Given the description of an element on the screen output the (x, y) to click on. 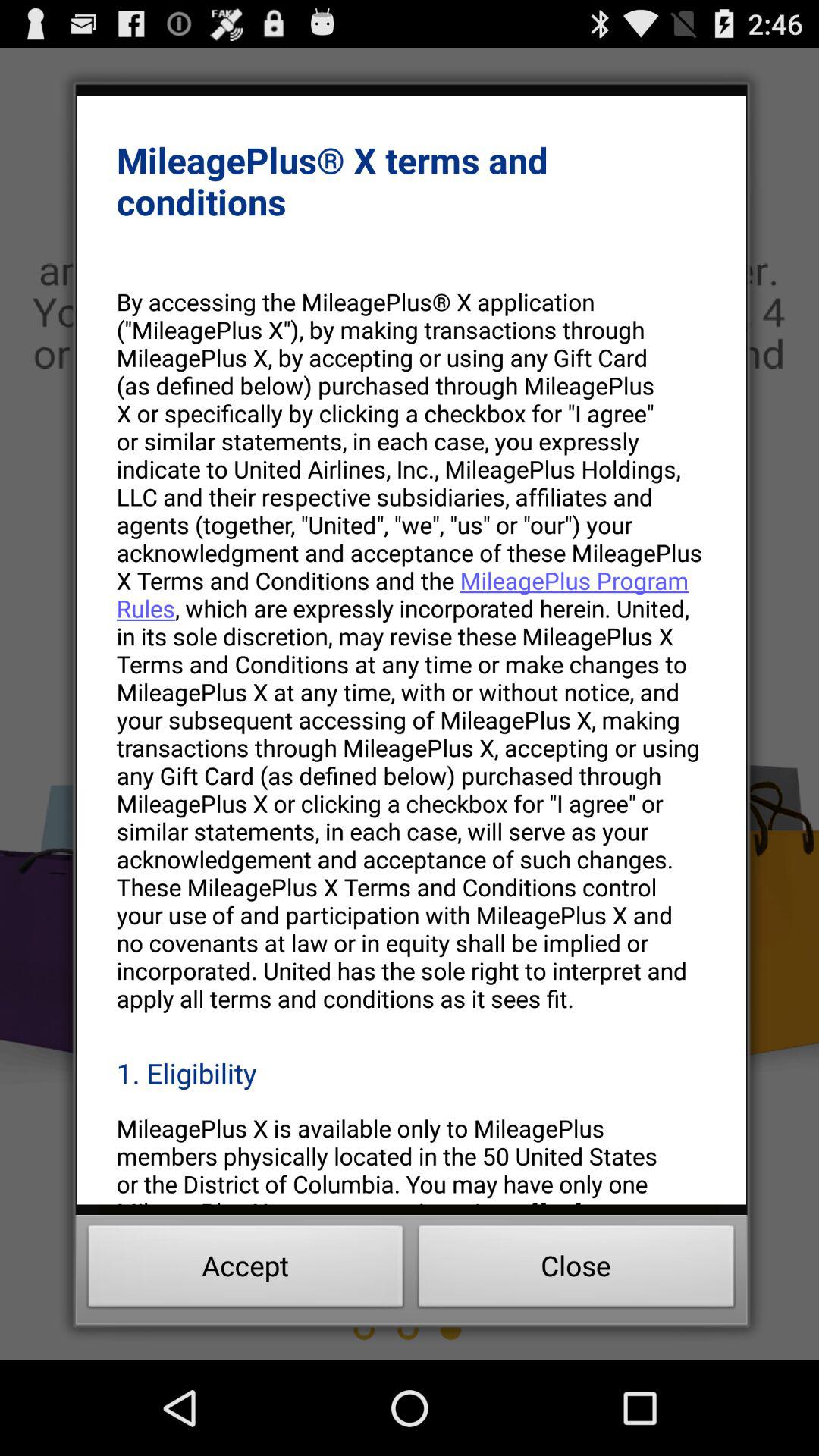
select the by accessing the (411, 649)
